Given the description of an element on the screen output the (x, y) to click on. 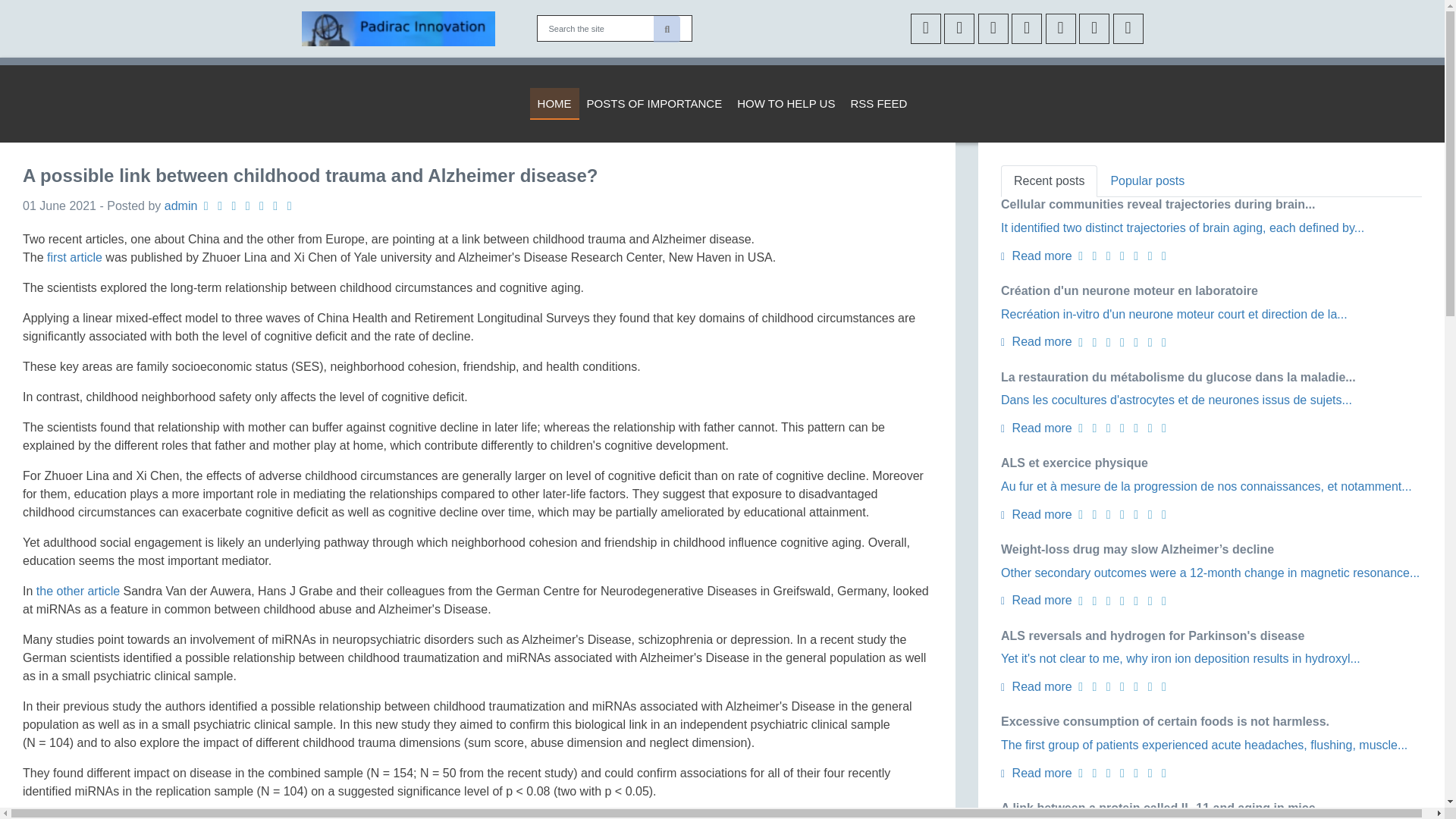
the other article (77, 590)
admin (181, 205)
POSTS OF IMPORTANCE (654, 103)
Recent posts (1049, 181)
HOME (554, 103)
RSS FEED (878, 103)
Cellular communities reveal trajectories during brain... (1157, 204)
Popular posts (1146, 181)
first article (73, 256)
HOW TO HELP US (786, 103)
